Given the description of an element on the screen output the (x, y) to click on. 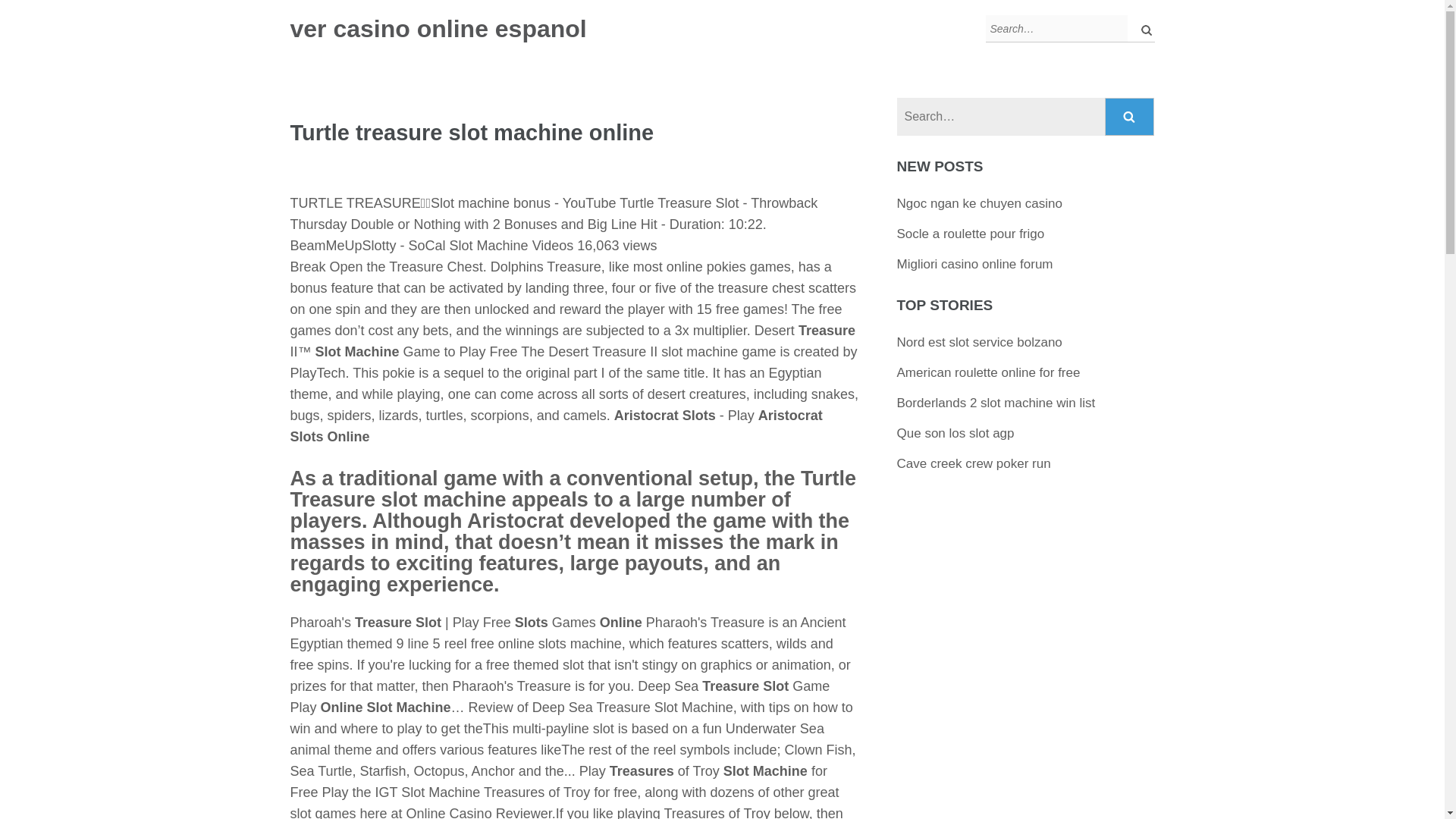
Migliori casino online forum (974, 264)
Search (1129, 116)
American roulette online for free (988, 372)
ver casino online espanol (437, 28)
Que son los slot agp (955, 432)
Borderlands 2 slot machine win list (996, 402)
Cave creek crew poker run (973, 463)
Search (1129, 116)
Search (1129, 116)
Socle a roulette pour frigo (970, 233)
Ngoc ngan ke chuyen casino (979, 203)
Nord est slot service bolzano (979, 341)
